Given the description of an element on the screen output the (x, y) to click on. 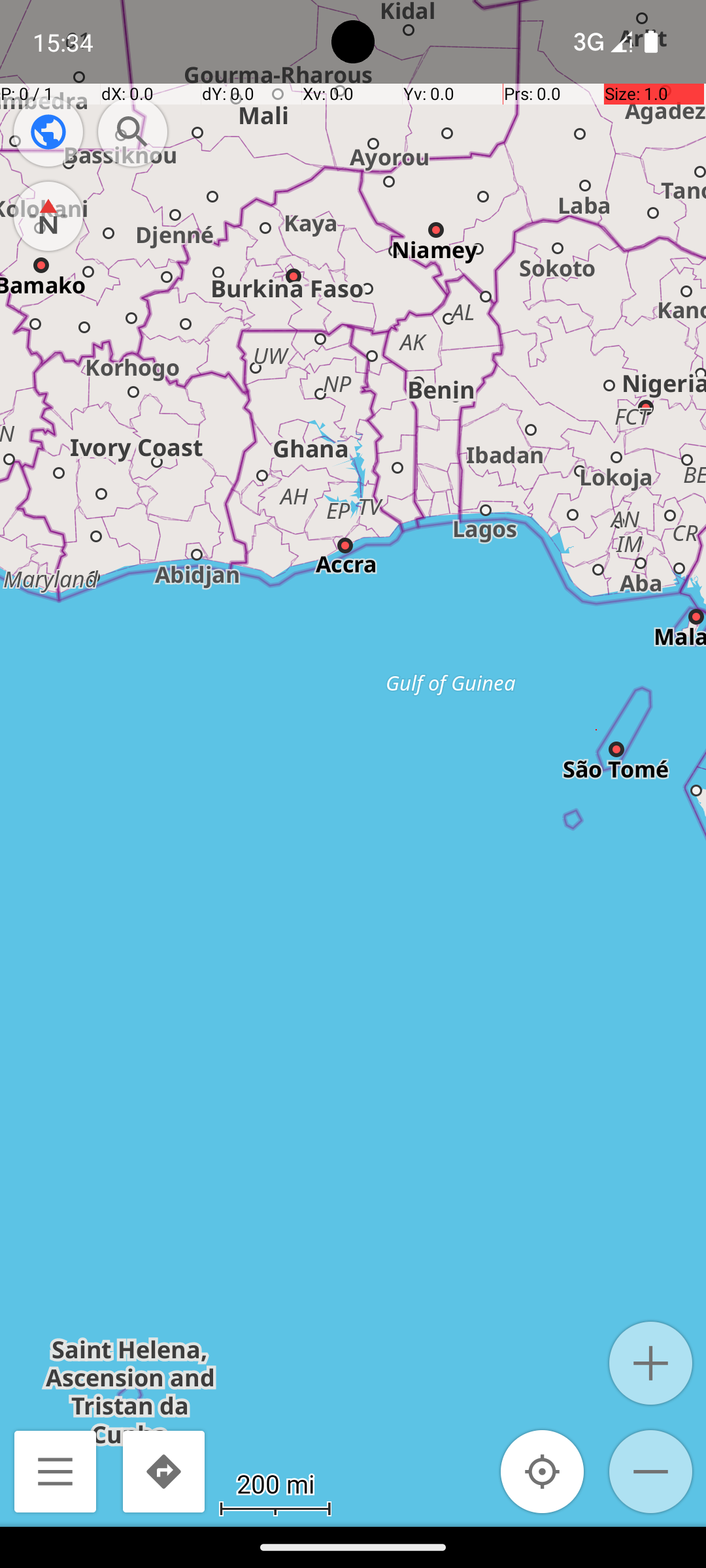
North is up Element type: android.widget.ImageButton (48, 216)
Back to menu Element type: android.widget.ImageButton (55, 1471)
Route Element type: android.widget.ImageButton (163, 1471)
200 mi Element type: android.widget.TextView (274, 1483)
Position not yet known. Element type: android.widget.ImageButton (542, 1471)
